Given the description of an element on the screen output the (x, y) to click on. 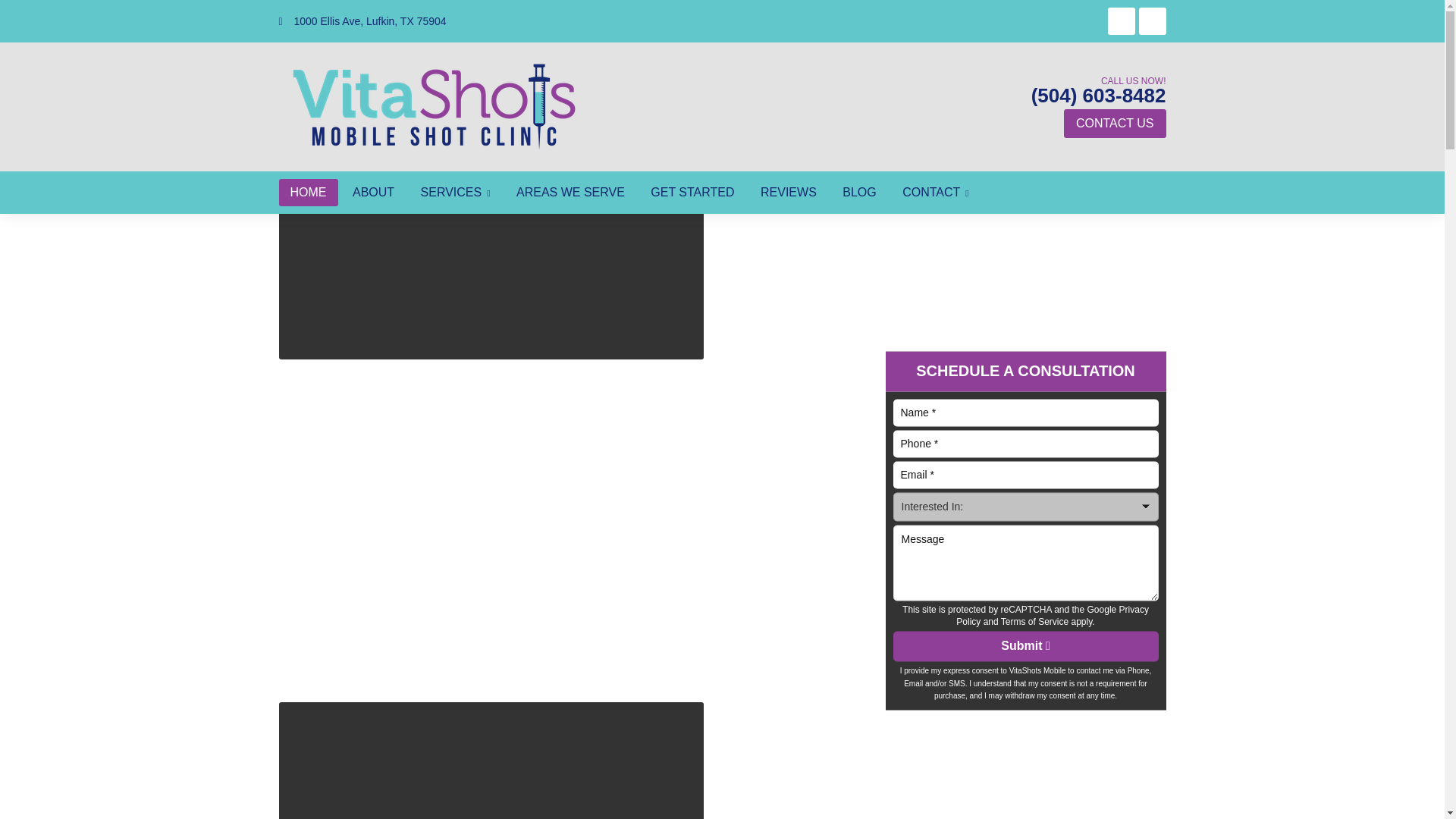
Submit (1025, 646)
Privacy Policy (1052, 615)
BLOG (858, 192)
Facebook (1121, 21)
Google Business Profile (1152, 21)
HOME (308, 192)
CONTACT (935, 192)
REVIEWS (788, 192)
CONTACT US (1115, 123)
GET STARTED (692, 192)
Terms of Service (1034, 621)
AREAS WE SERVE (570, 192)
VitaShots Mobile (434, 106)
ABOUT (373, 192)
